Given the description of an element on the screen output the (x, y) to click on. 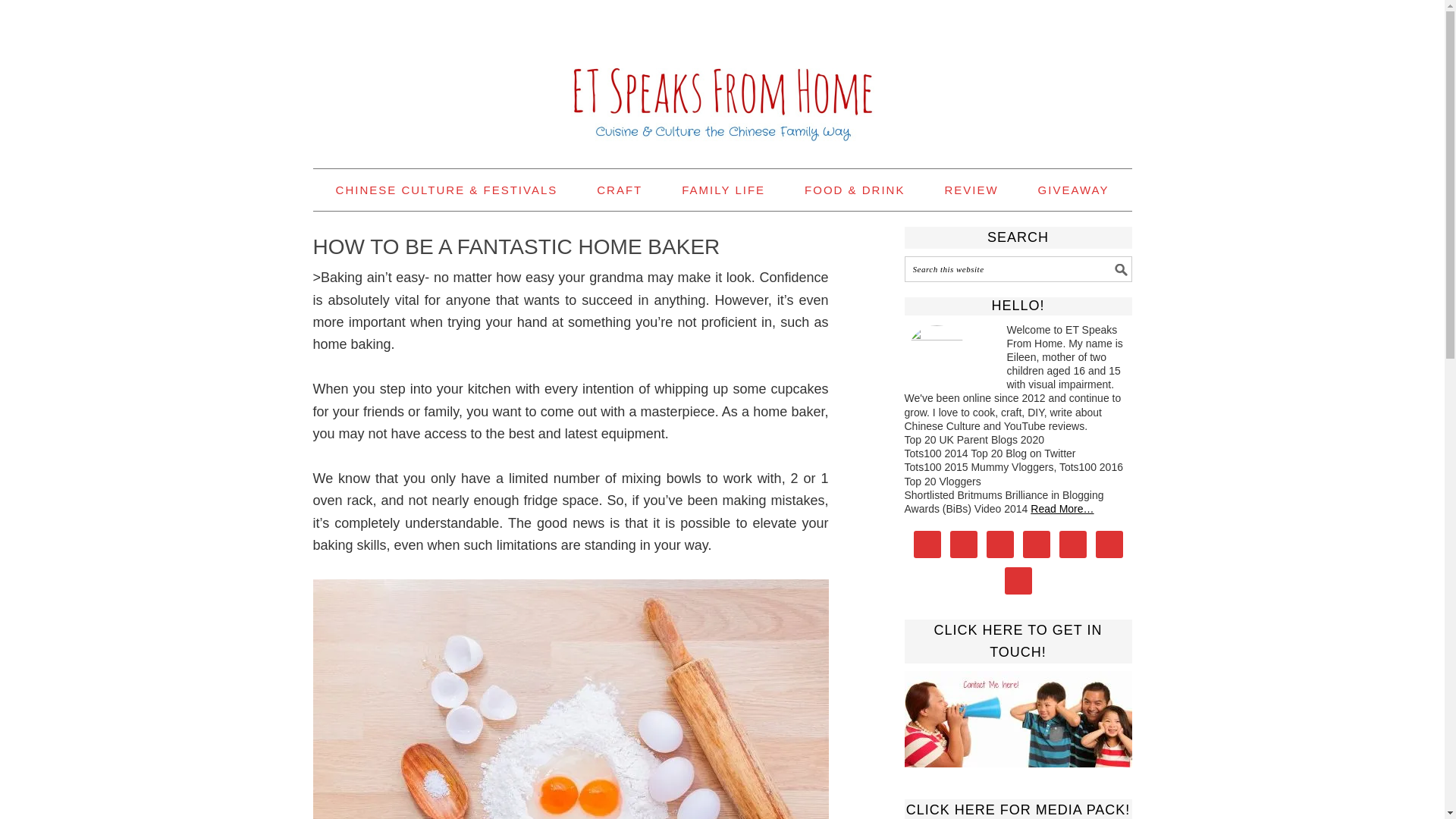
CRAFT (619, 189)
Click here to get in touch! (1017, 718)
REVIEW (970, 189)
FAMILY LIFE (723, 189)
ET SPEAKS FROM HOME (722, 77)
